Given the description of an element on the screen output the (x, y) to click on. 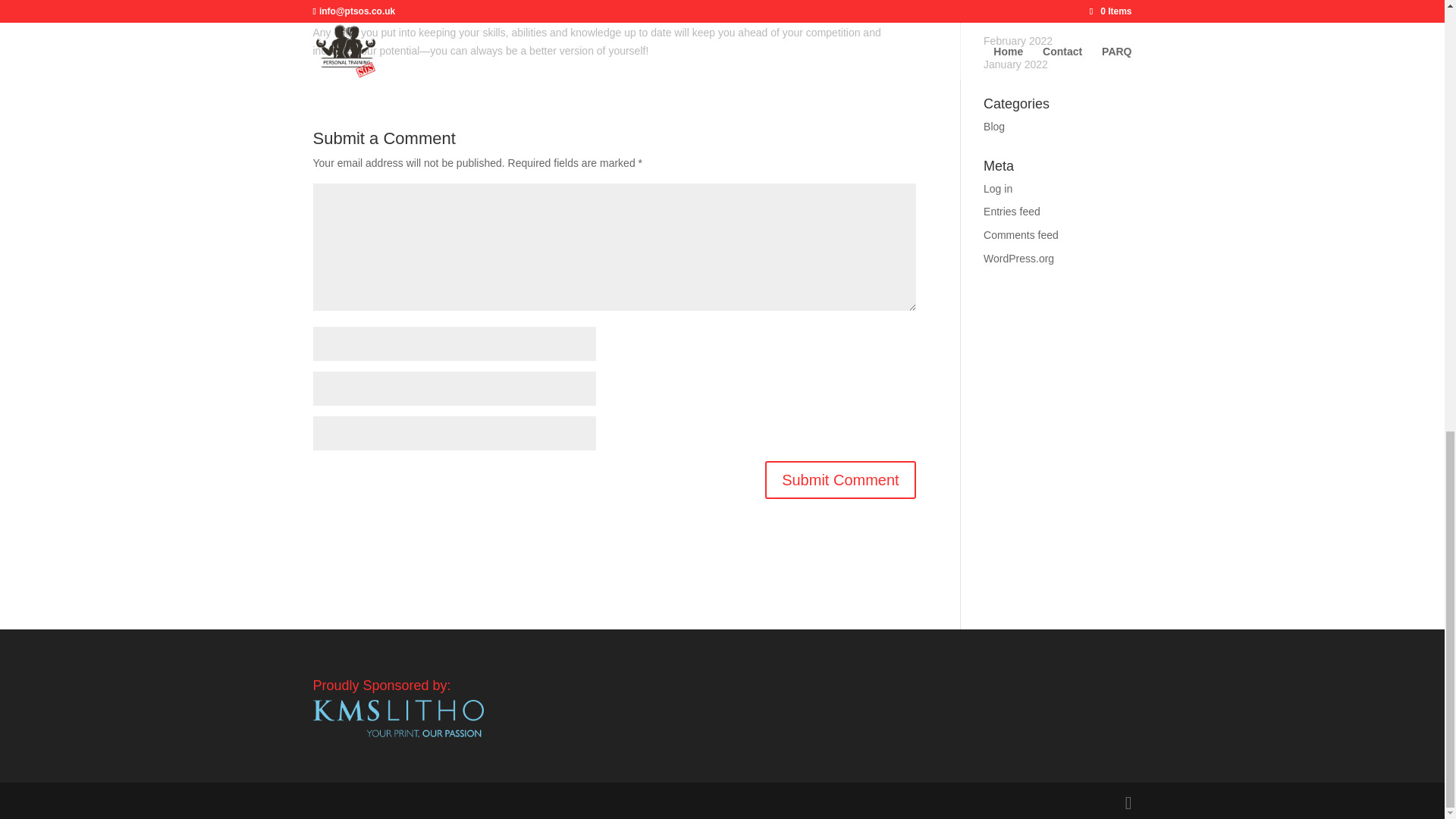
Submit Comment (840, 479)
Submit Comment (840, 479)
